Given the description of an element on the screen output the (x, y) to click on. 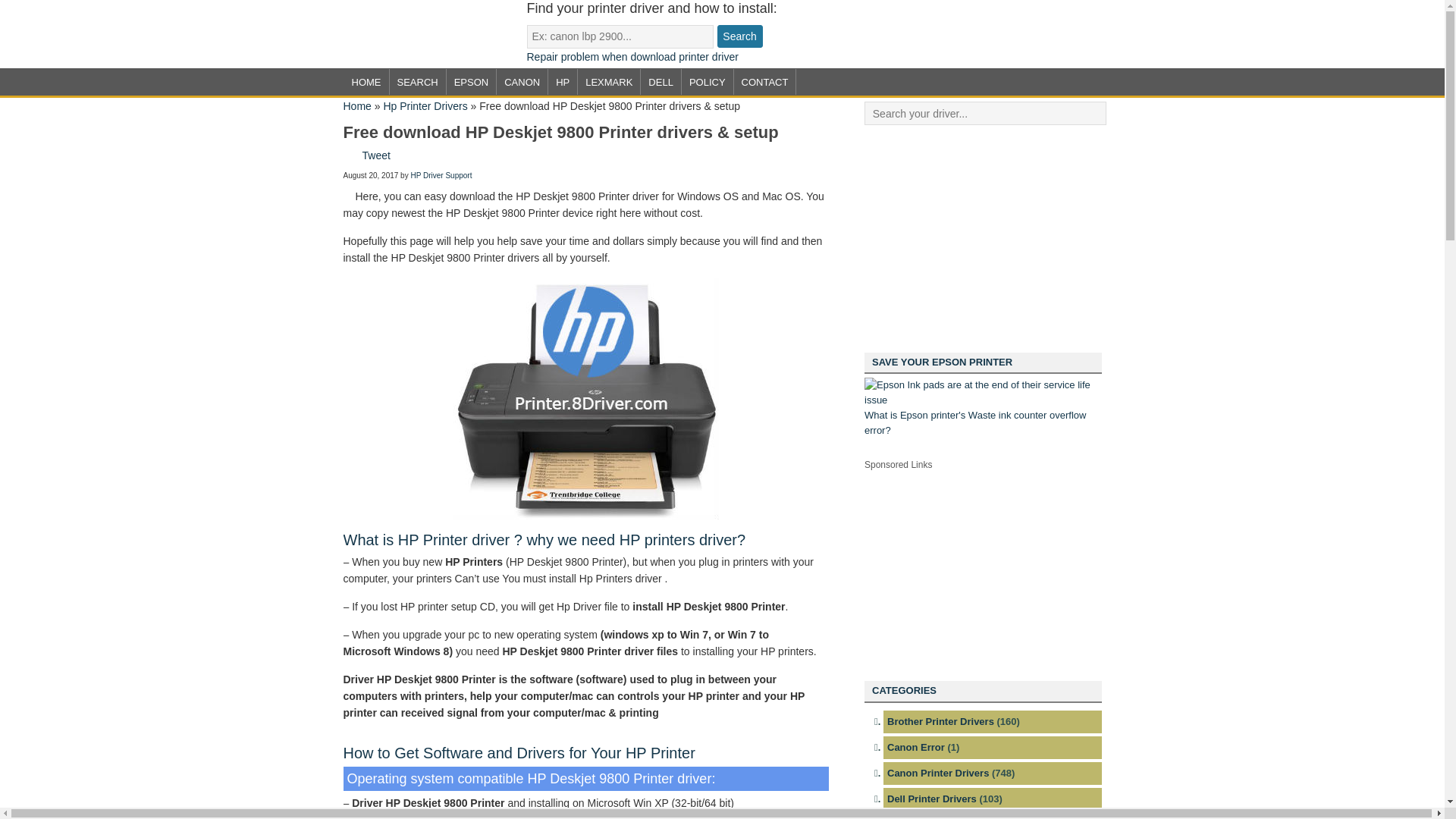
HP (562, 81)
Brother Printer Drivers (940, 721)
Home (356, 105)
Tweet (376, 154)
HP Driver Support (440, 175)
CONTACT (764, 81)
EPSON (471, 81)
Search (739, 36)
Canon Printer Drivers (937, 772)
Hp Printer Drivers (424, 105)
POLICY (707, 81)
DELL (660, 81)
CANON (521, 81)
HOME (365, 81)
SEARCH (417, 81)
